Given the description of an element on the screen output the (x, y) to click on. 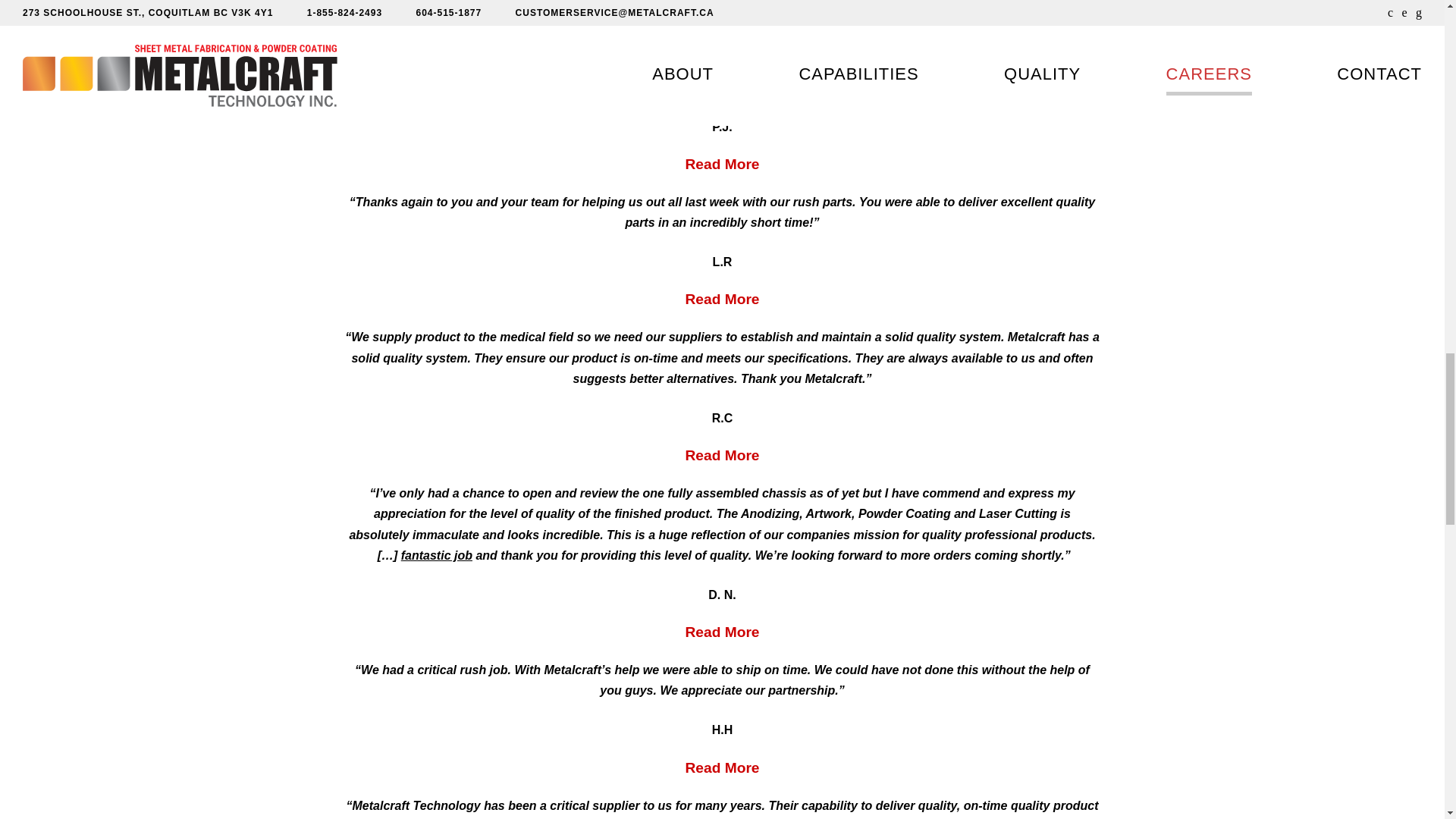
Read More (721, 631)
Read More (721, 299)
Read More (721, 163)
Read More (721, 455)
